Given the description of an element on the screen output the (x, y) to click on. 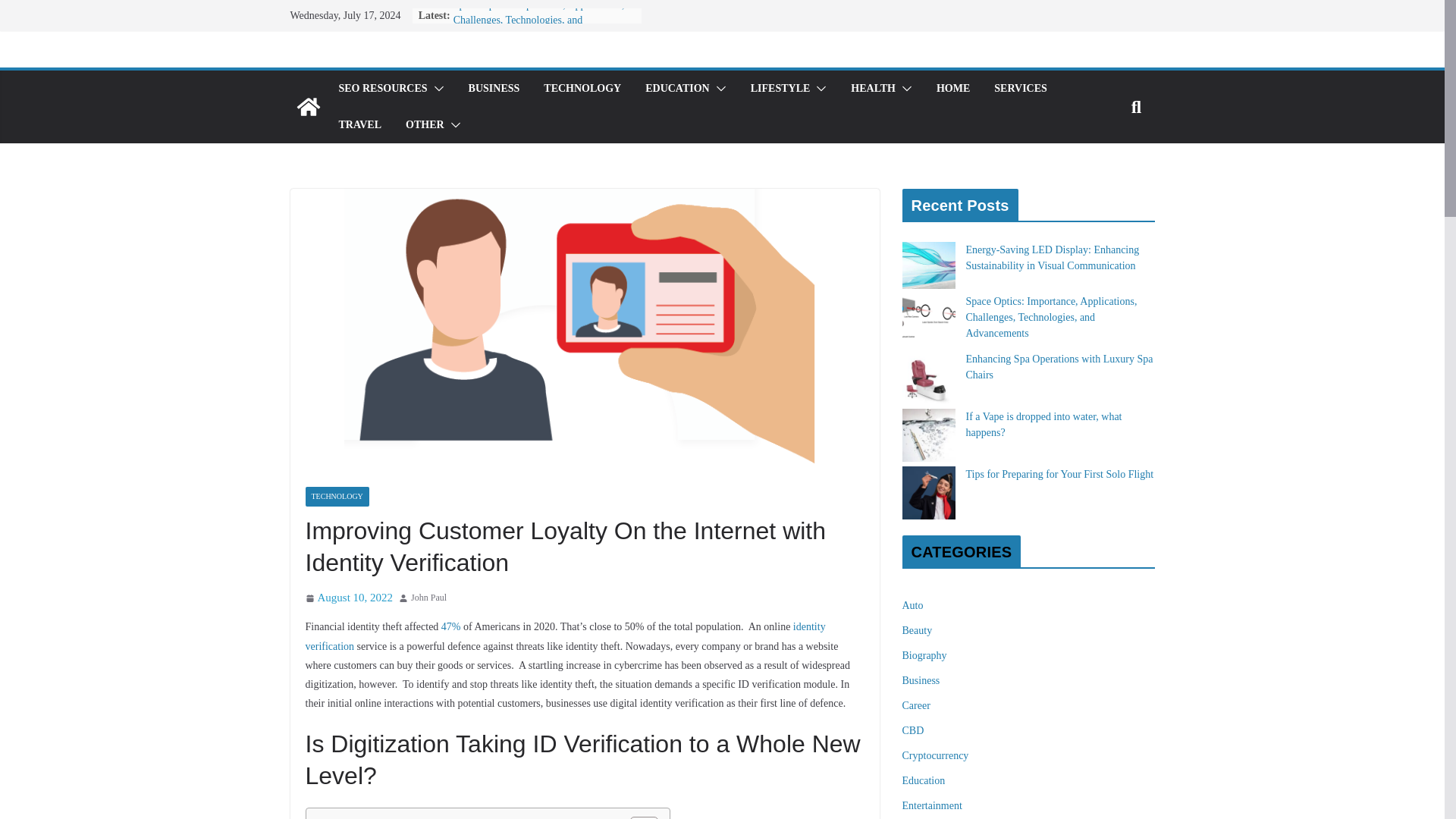
6:10 am (348, 598)
SERVICES (1020, 88)
OTHER (425, 124)
HOME (952, 88)
BUSINESS (493, 88)
TRAVEL (359, 124)
TECHNOLOGY (582, 88)
EDUCATION (677, 88)
identity verification (564, 635)
SEO RESOURCES (381, 88)
TECHNOLOGY (336, 496)
LIFESTYLE (780, 88)
August 10, 2022 (348, 598)
